Given the description of an element on the screen output the (x, y) to click on. 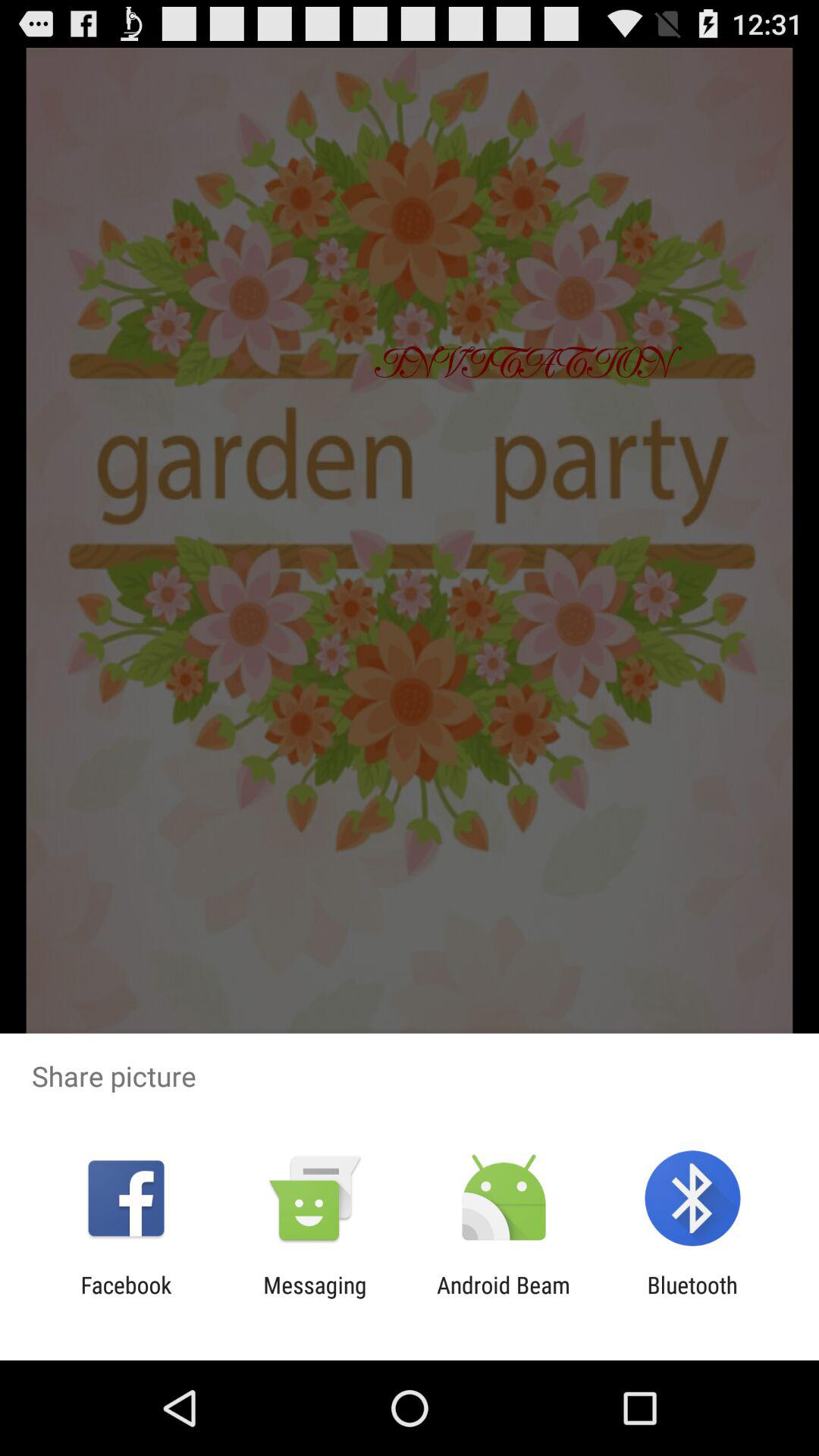
press the app to the right of facebook (314, 1298)
